Given the description of an element on the screen output the (x, y) to click on. 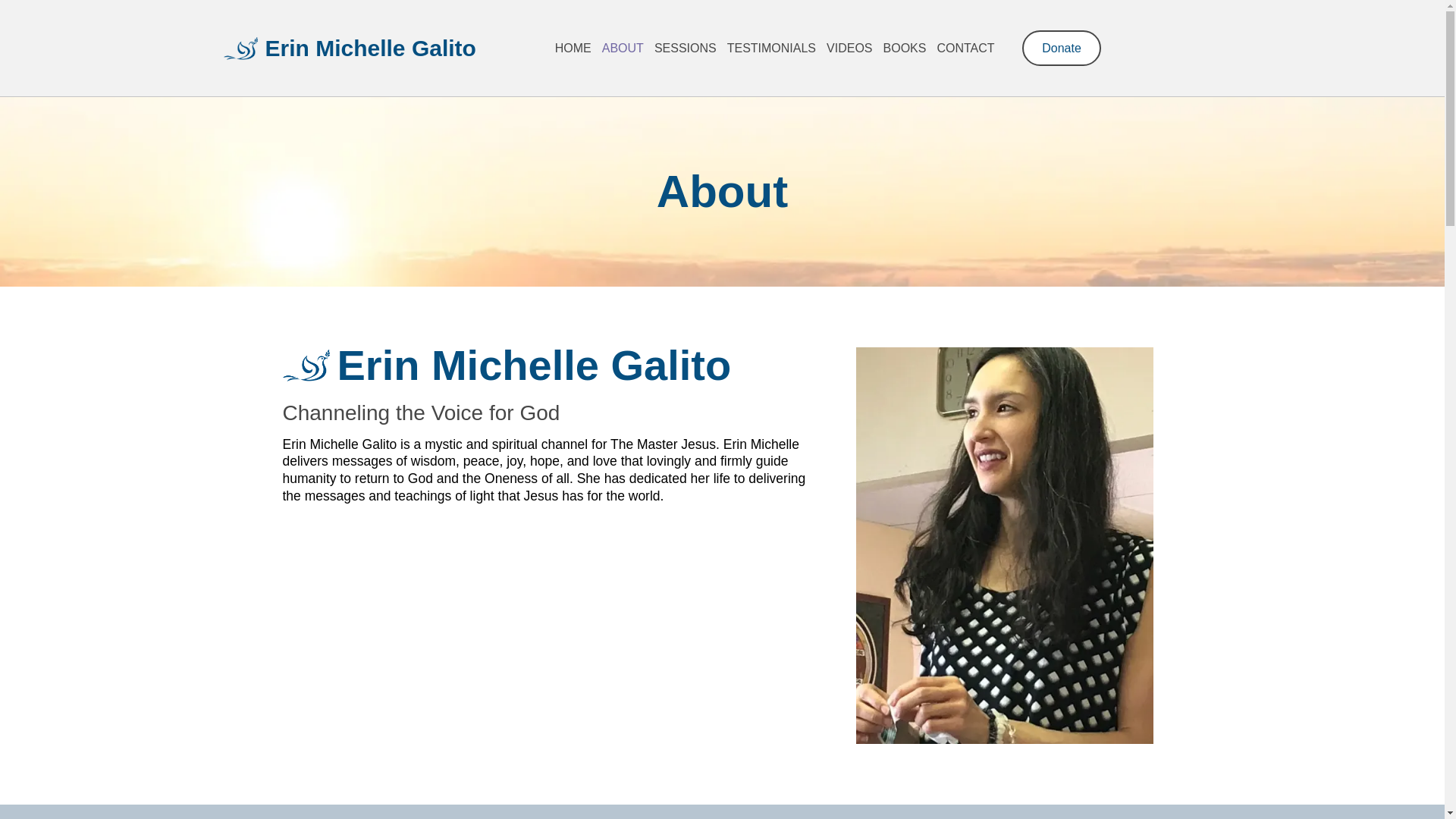
CONTACT (964, 48)
Erin Michelle Galito (376, 48)
Donate (1061, 48)
HOME (573, 48)
SESSIONS (685, 48)
ABOUT (622, 48)
TESTIMONIALS (771, 48)
Erin Michelle Galito (553, 365)
BOOKS (904, 48)
VIDEOS (849, 48)
